Given the description of an element on the screen output the (x, y) to click on. 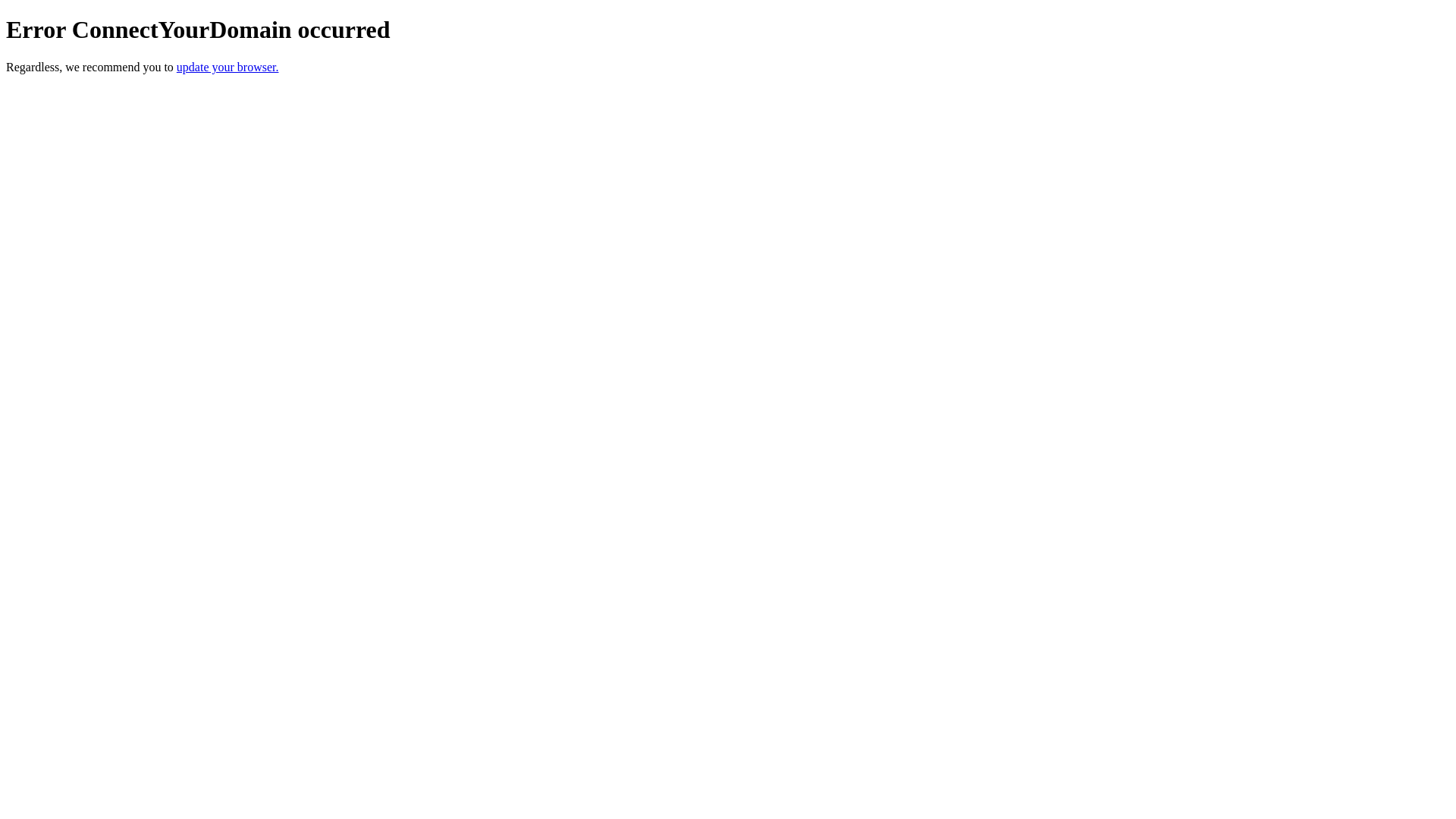
update your browser. Element type: text (227, 66)
